Given the description of an element on the screen output the (x, y) to click on. 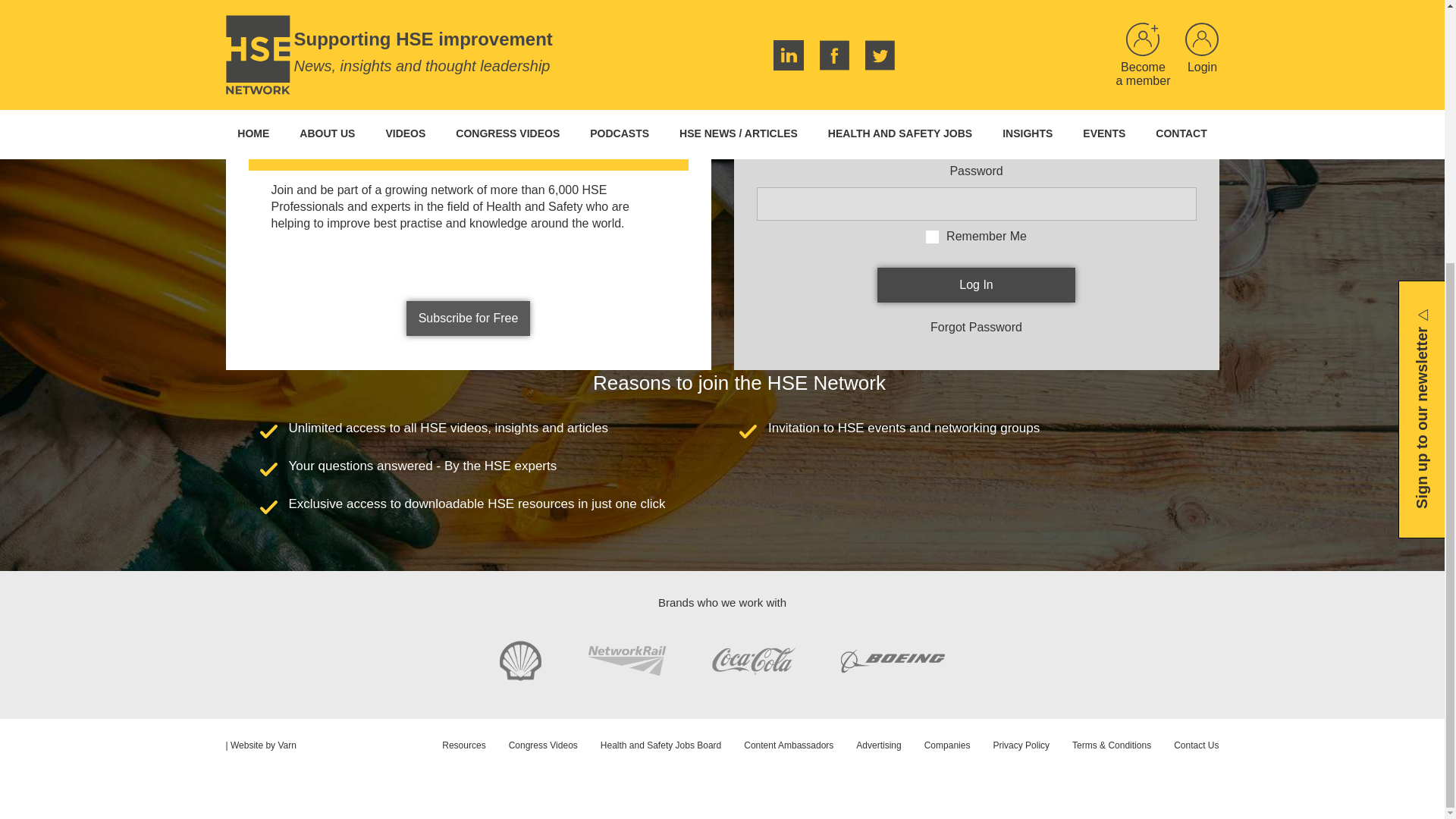
Resources (451, 745)
Health and Safety Jobs Board (649, 745)
Log In (976, 284)
Congress Videos (532, 745)
Forgot Password (976, 327)
Varn (286, 745)
Subscribe for Free (468, 318)
Log In (976, 284)
